Given the description of an element on the screen output the (x, y) to click on. 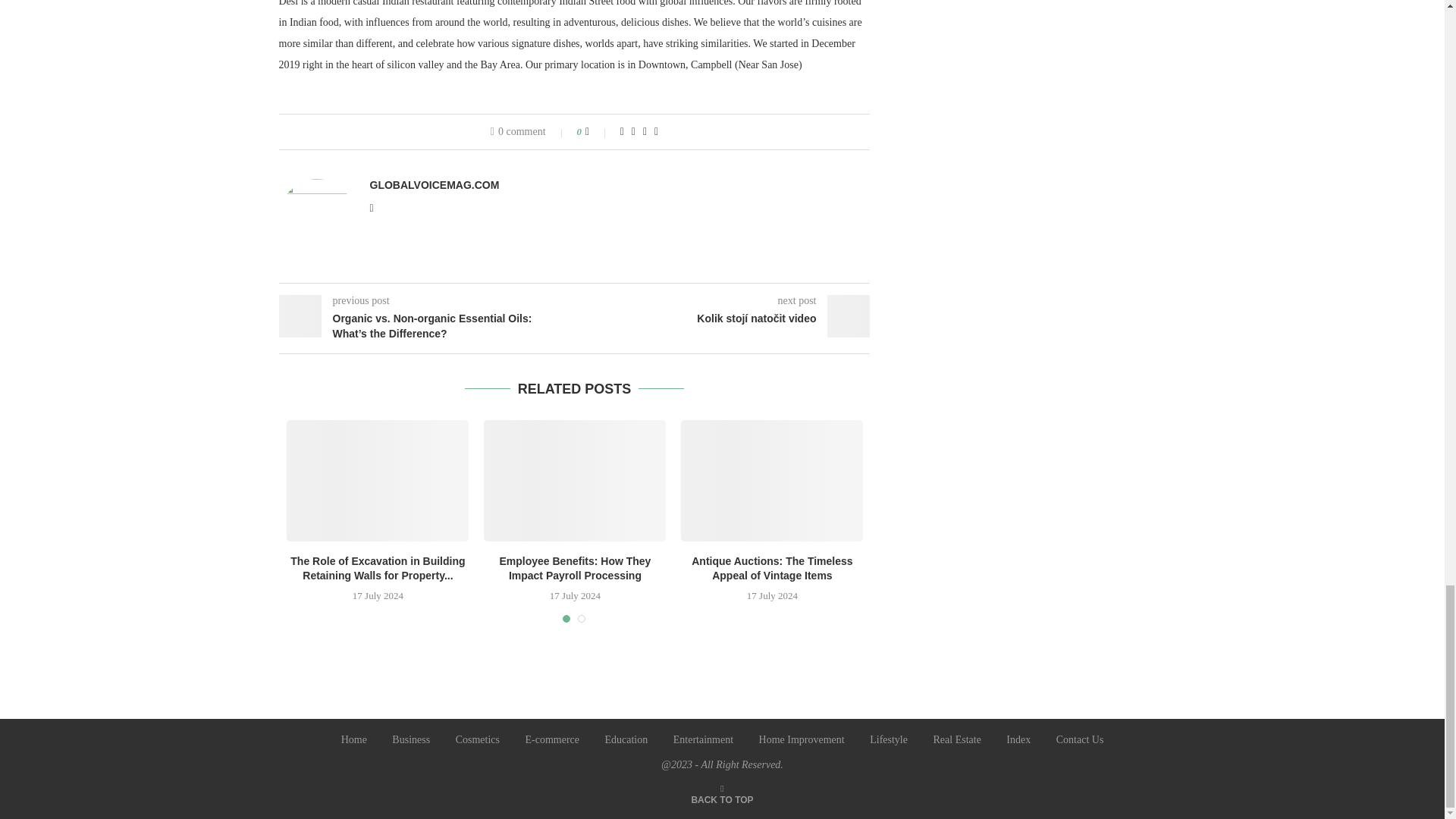
Antique Auctions: The Timeless Appeal of Vintage Items (772, 480)
Employee Benefits: How They Impact Payroll Processing (574, 480)
Author globalvoicemag.com (434, 184)
Like (597, 132)
